Given the description of an element on the screen output the (x, y) to click on. 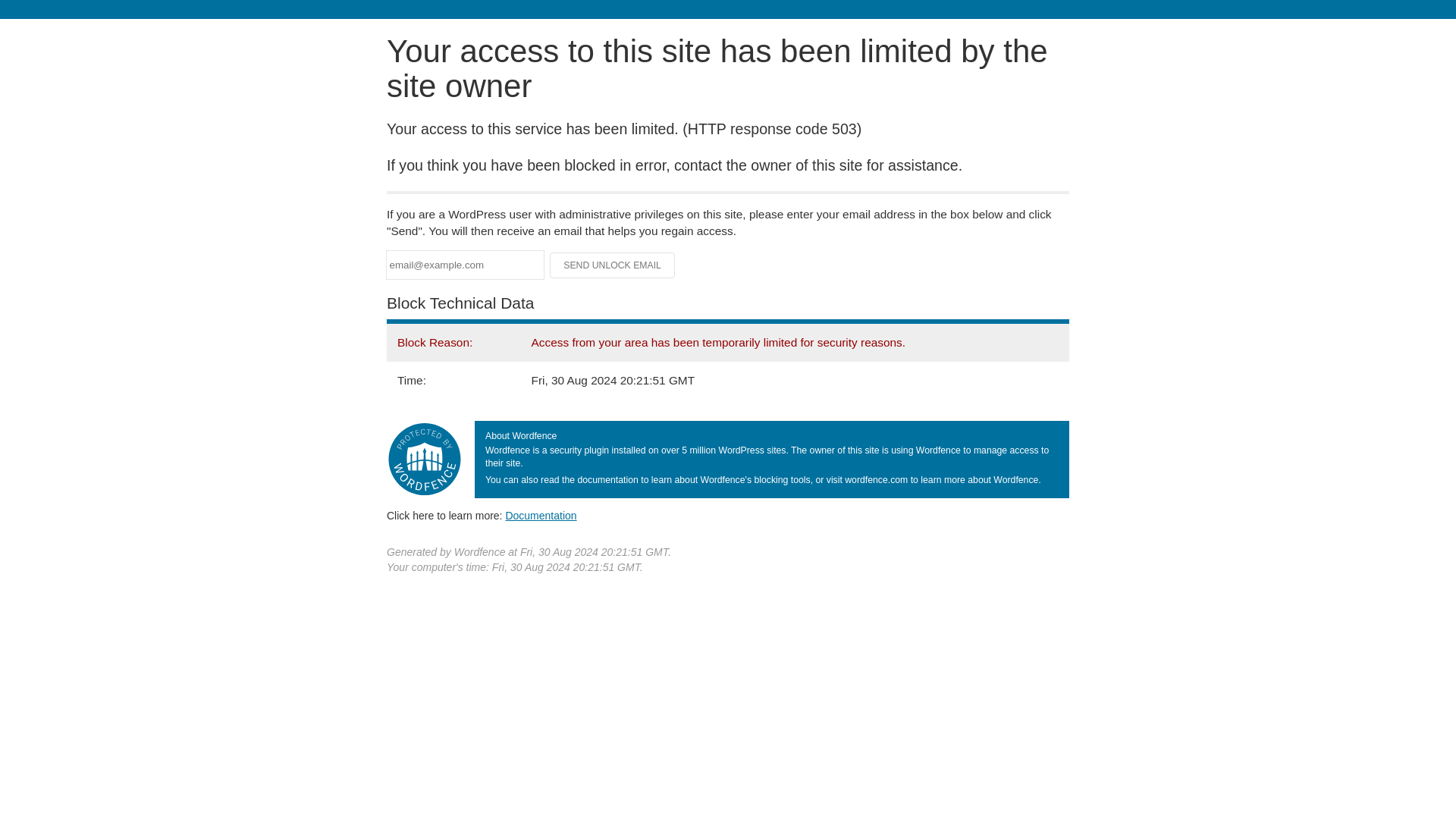
Send Unlock Email (612, 265)
Send Unlock Email (612, 265)
Documentation (540, 515)
